Given the description of an element on the screen output the (x, y) to click on. 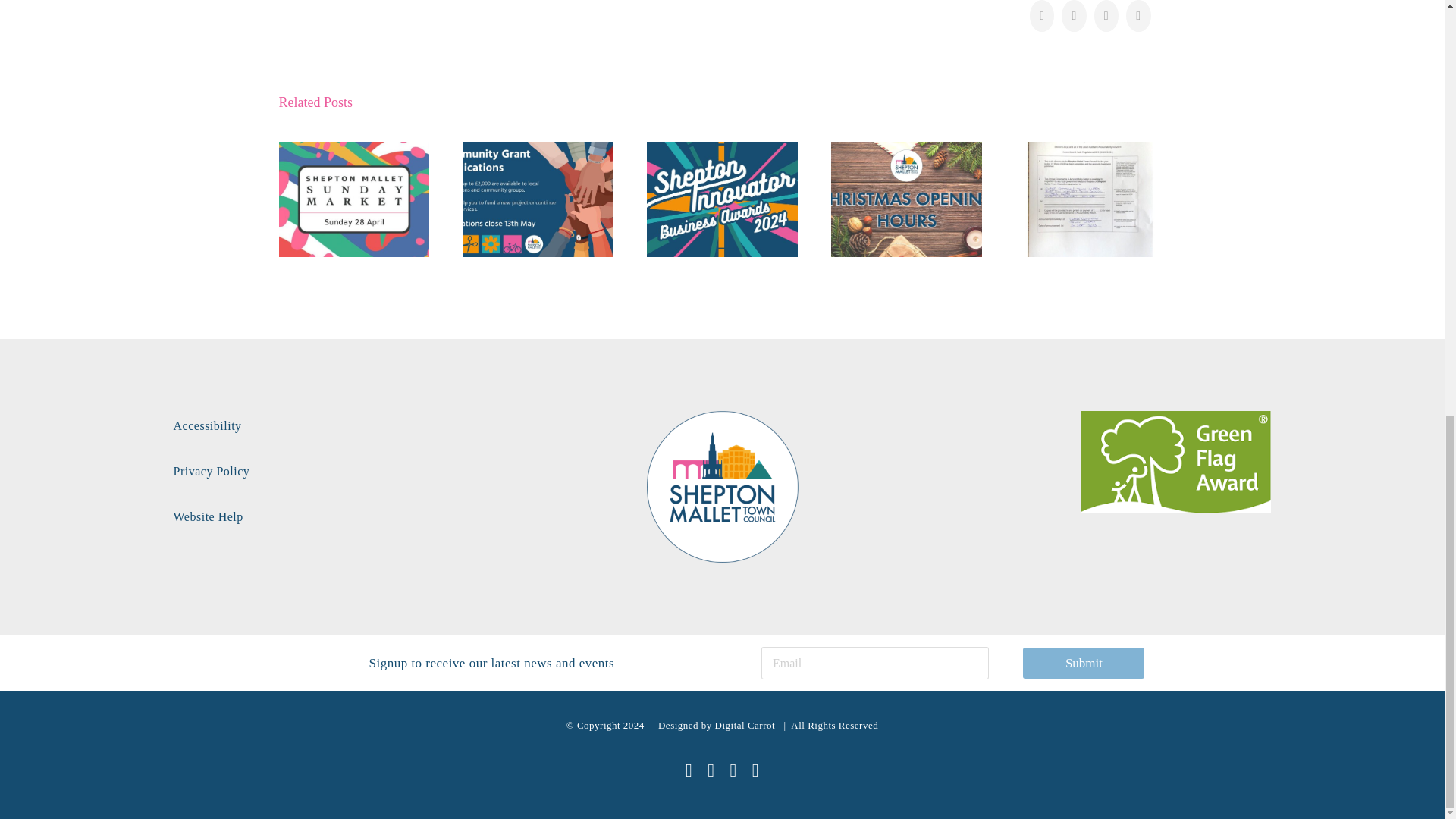
master-colour (721, 486)
download (1176, 462)
